Given the description of an element on the screen output the (x, y) to click on. 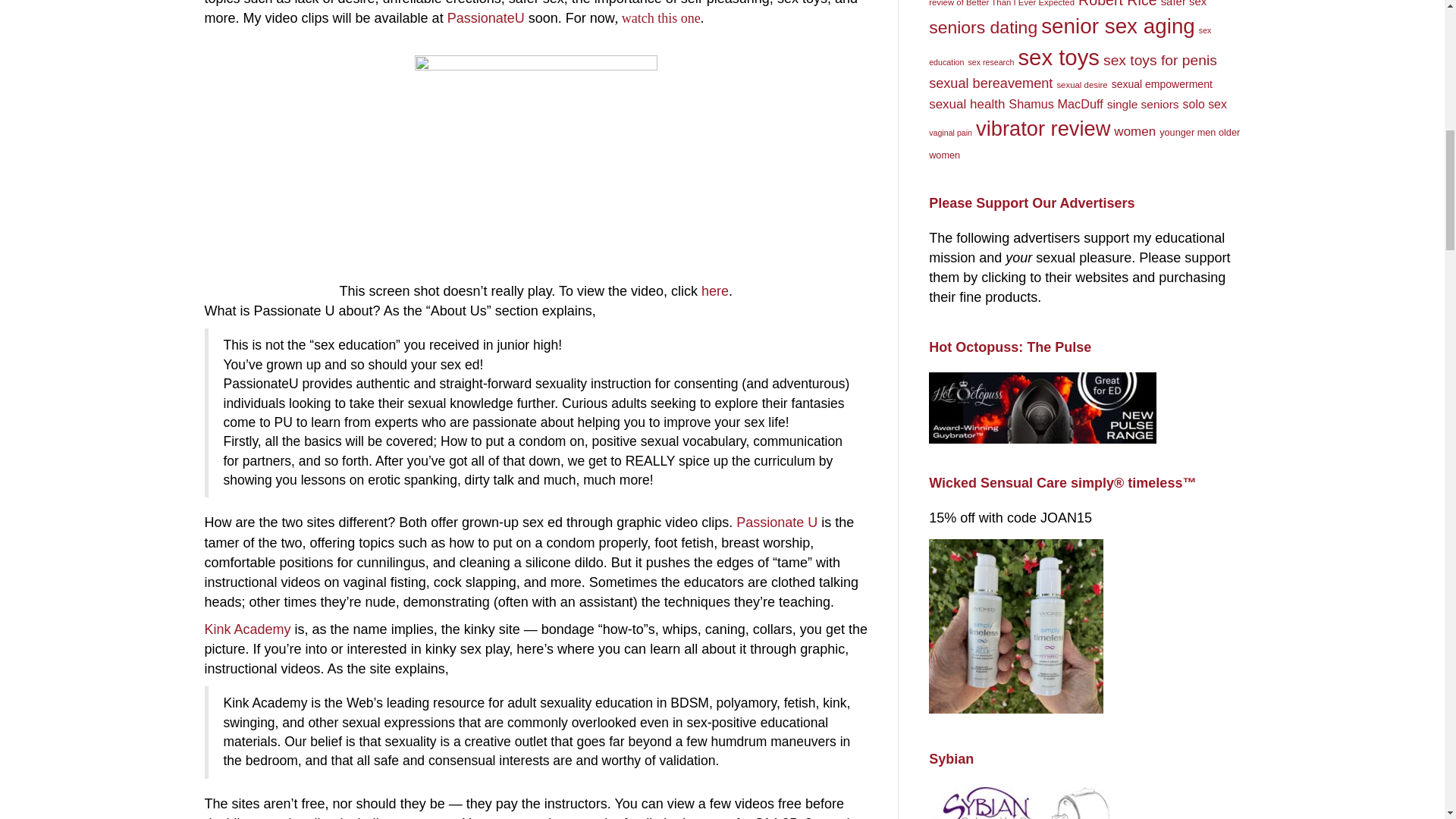
one of mine (426, 818)
PassionateU (485, 17)
Kink Academy (248, 629)
here (715, 290)
watch this one (660, 17)
Passionate U (776, 522)
Hot Octopuss: The Pulse (1042, 407)
